Given the description of an element on the screen output the (x, y) to click on. 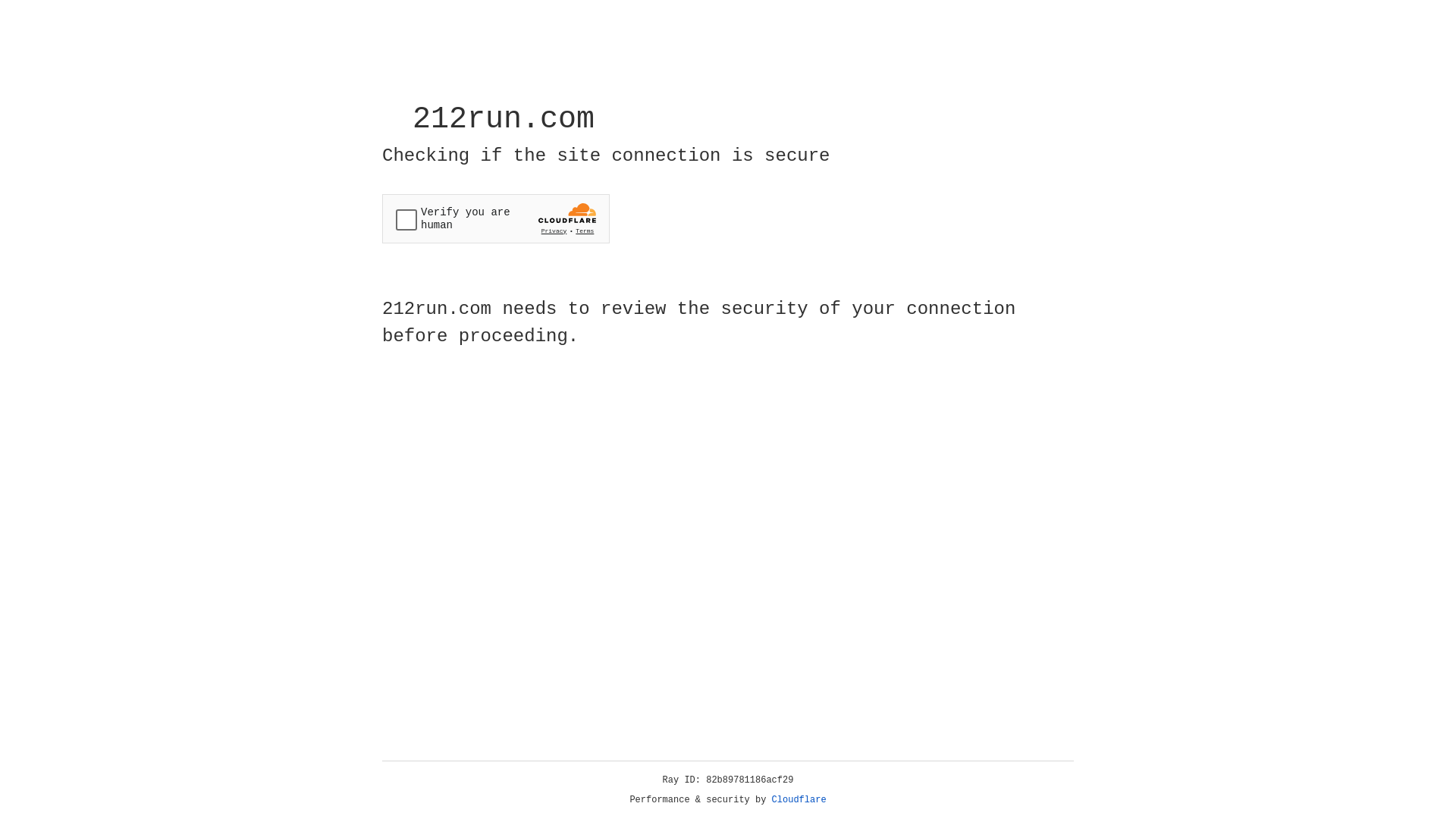
Cloudflare Element type: text (798, 799)
Widget containing a Cloudflare security challenge Element type: hover (495, 218)
